Given the description of an element on the screen output the (x, y) to click on. 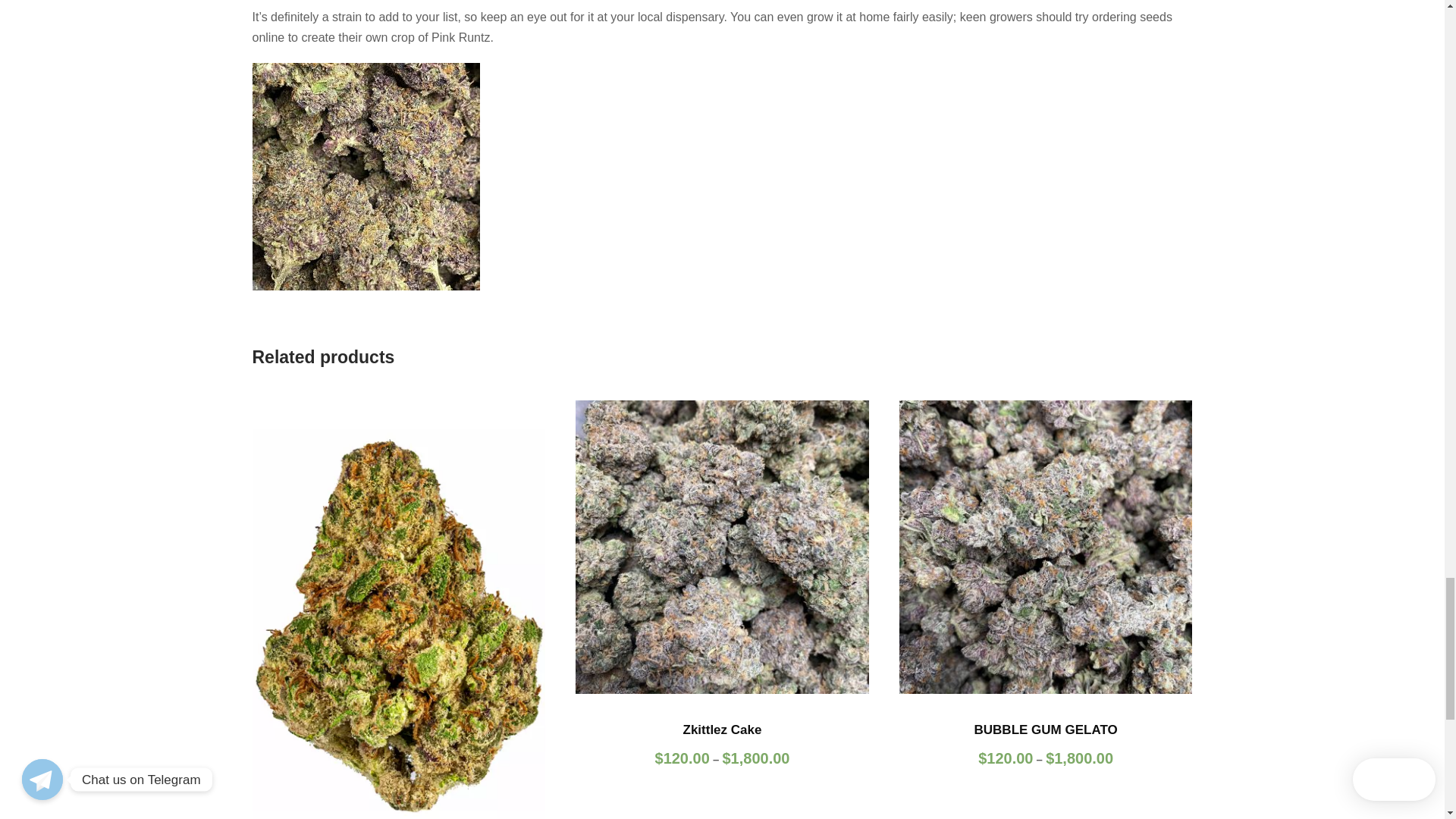
Purple Trainwreck strain (397, 609)
